Given the description of an element on the screen output the (x, y) to click on. 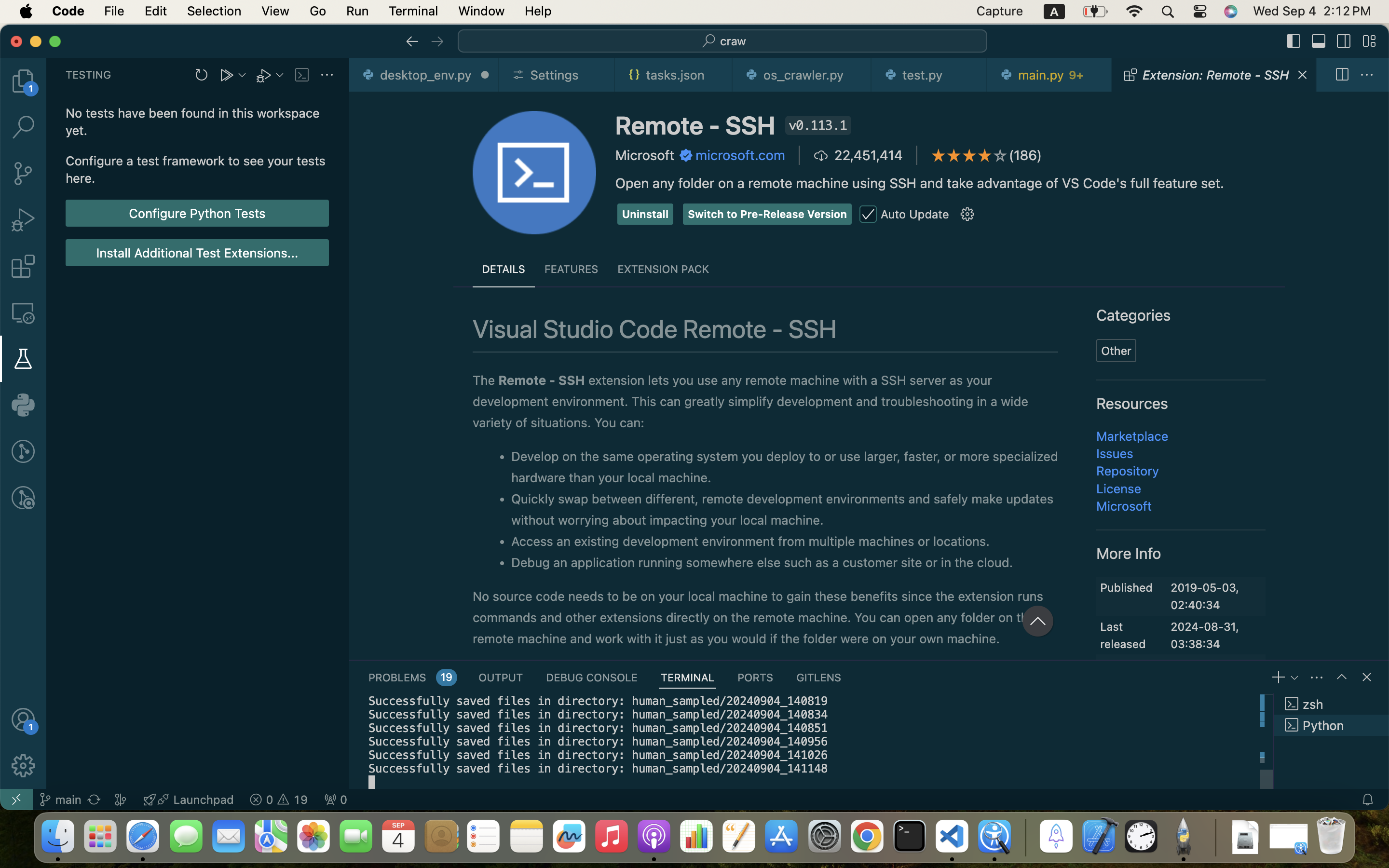
zsh  Element type: AXGroup (1331, 703)
License Element type: AXStaticText (1119, 488)
(186) Element type: AXStaticText (1025, 154)
0 os_crawler.py   Element type: AXRadioButton (801, 74)
0.4285714328289032 Element type: AXDockItem (1024, 836)
